Given the description of an element on the screen output the (x, y) to click on. 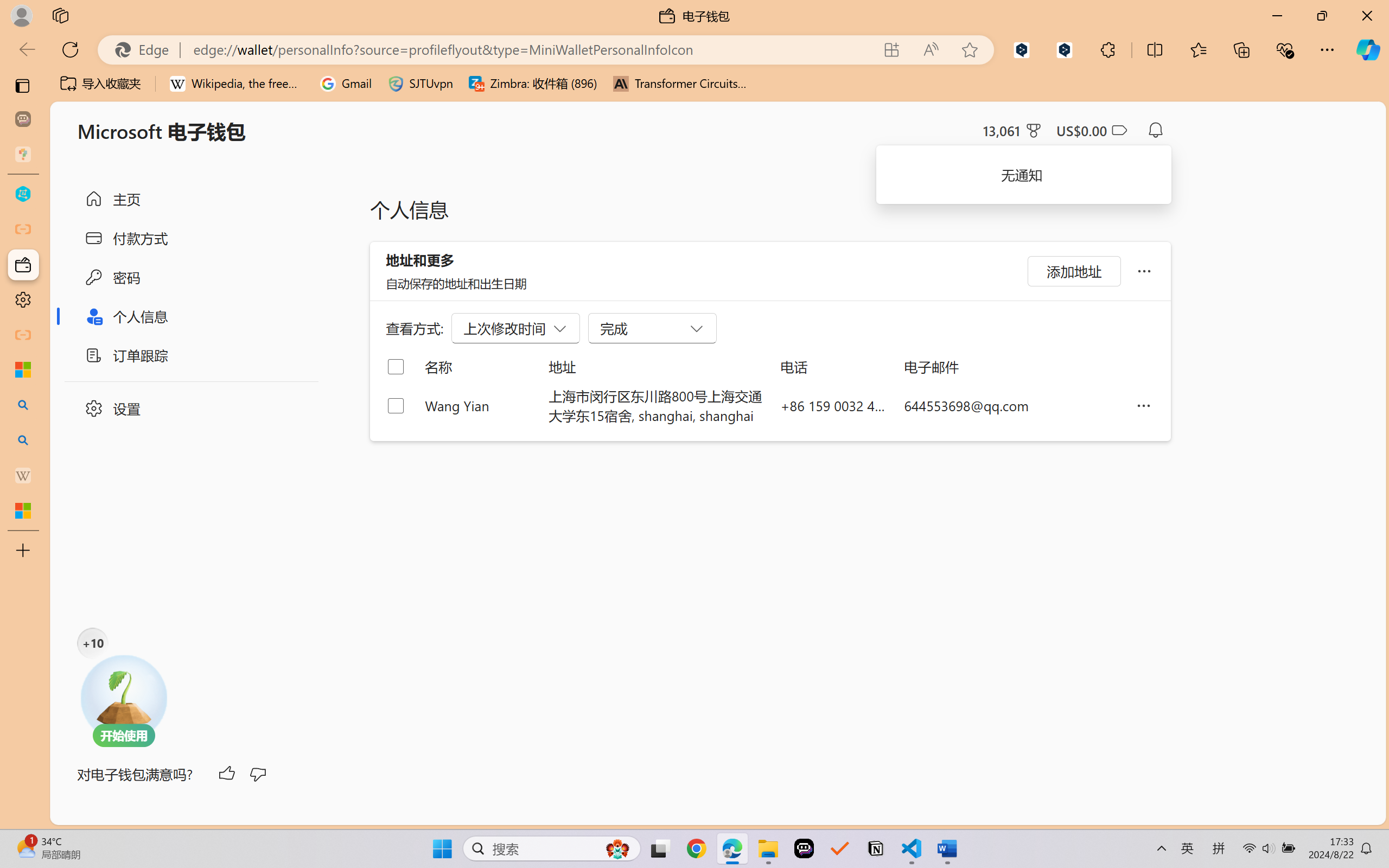
Copilot (Ctrl+Shift+.) (1368, 49)
